Given the description of an element on the screen output the (x, y) to click on. 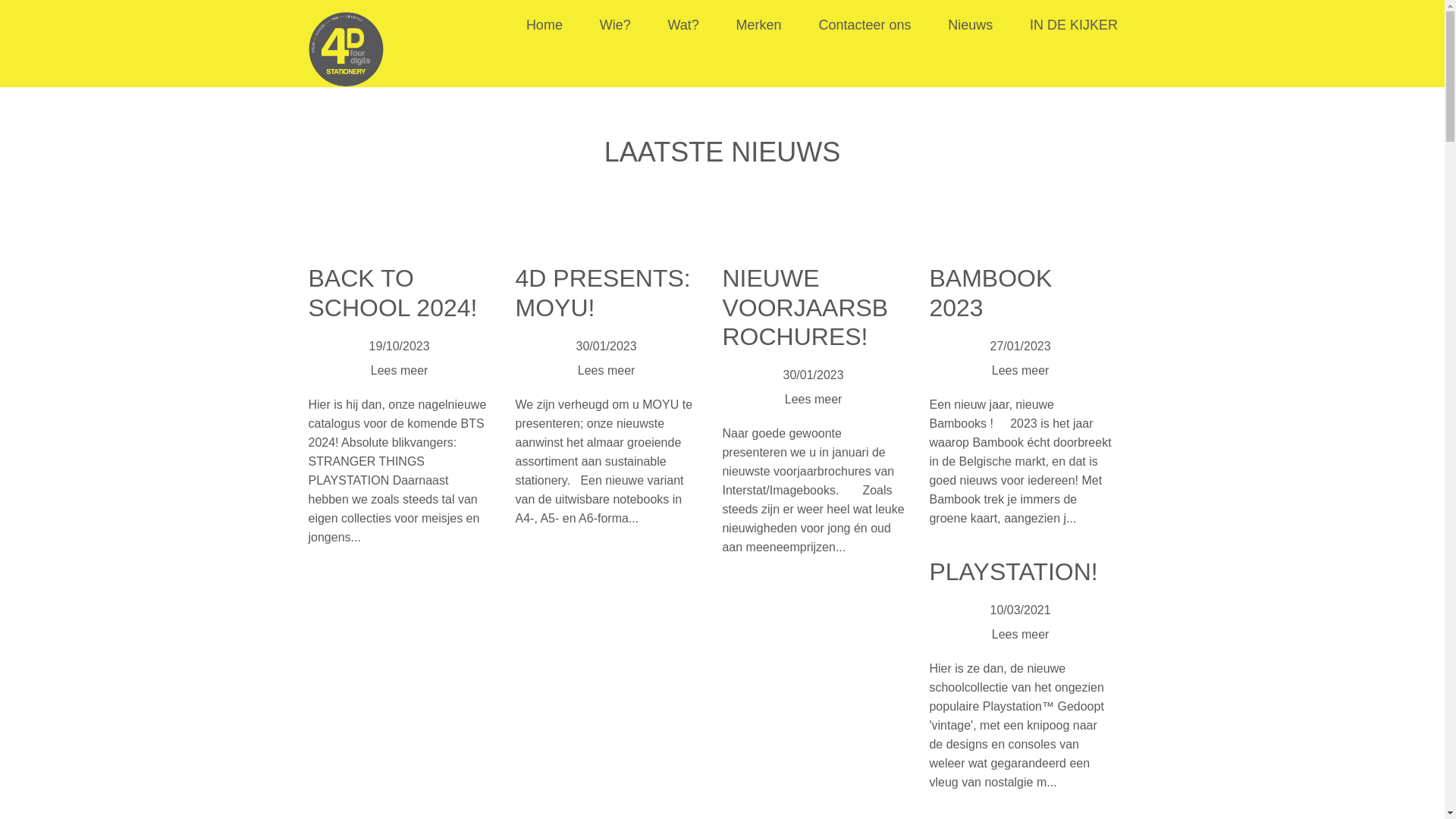
Lees meer Element type: text (813, 398)
Wat? Element type: text (682, 25)
BACK TO SCHOOL 2024! Element type: text (391, 292)
30/01/2023 Element type: text (606, 345)
Contacteer ons Element type: text (864, 25)
10/03/2021 Element type: text (1020, 609)
Lees meer Element type: text (606, 370)
4D PRESENTS: MOYU! Element type: text (602, 292)
Lees meer Element type: text (1020, 633)
Merken Element type: text (758, 25)
Wie? Element type: text (615, 25)
19/10/2023 Element type: text (399, 345)
NIEUWE VOORJAARSBROCHURES! Element type: text (804, 307)
Nieuws Element type: text (970, 25)
27/01/2023 Element type: text (1020, 345)
30/01/2023 Element type: text (813, 374)
IN DE KIJKER Element type: text (1073, 25)
Lees meer Element type: text (1020, 370)
BAMBOOK 2023 Element type: text (989, 292)
Lees meer Element type: text (399, 370)
Home Element type: text (544, 25)
PLAYSTATION! Element type: text (1012, 571)
